Given the description of an element on the screen output the (x, y) to click on. 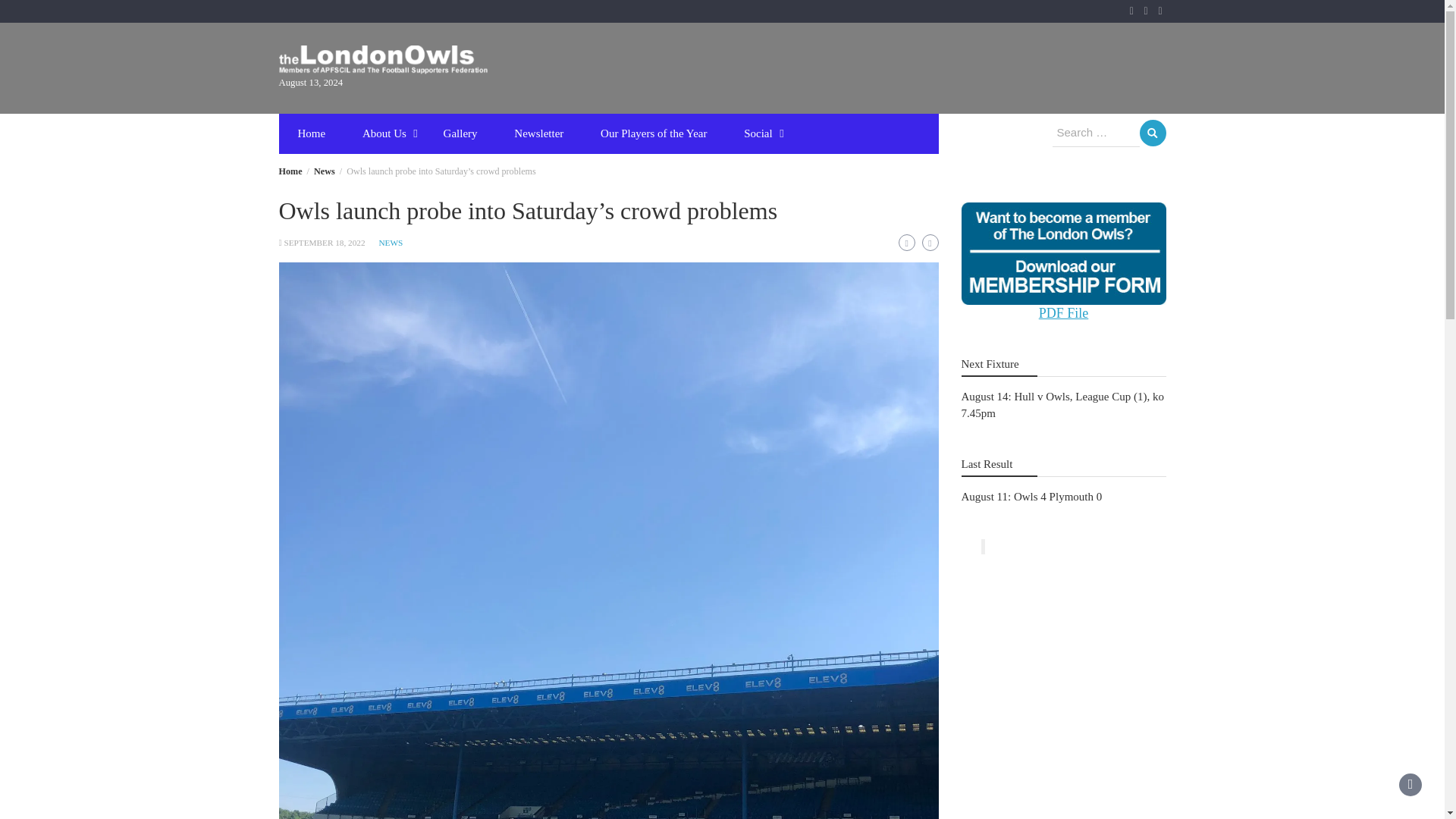
Social (758, 133)
Search for: (1096, 133)
About Us (384, 133)
SEPTEMBER 18, 2022 (324, 242)
Our Players of the Year (653, 133)
Home (290, 171)
Search (1152, 132)
Search (1152, 132)
Newsletter (538, 133)
Search (1152, 132)
